Given the description of an element on the screen output the (x, y) to click on. 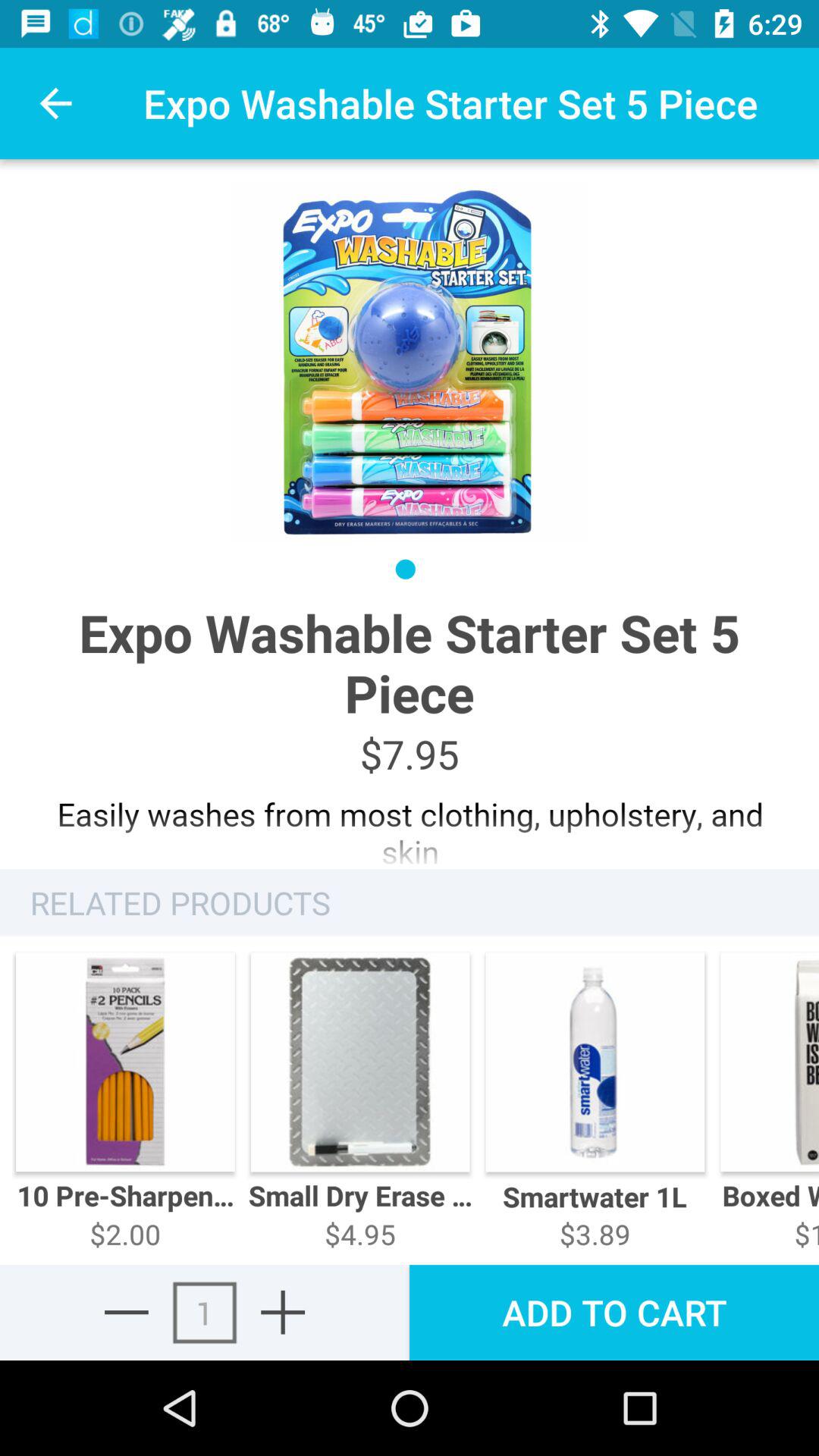
item details (409, 824)
